Given the description of an element on the screen output the (x, y) to click on. 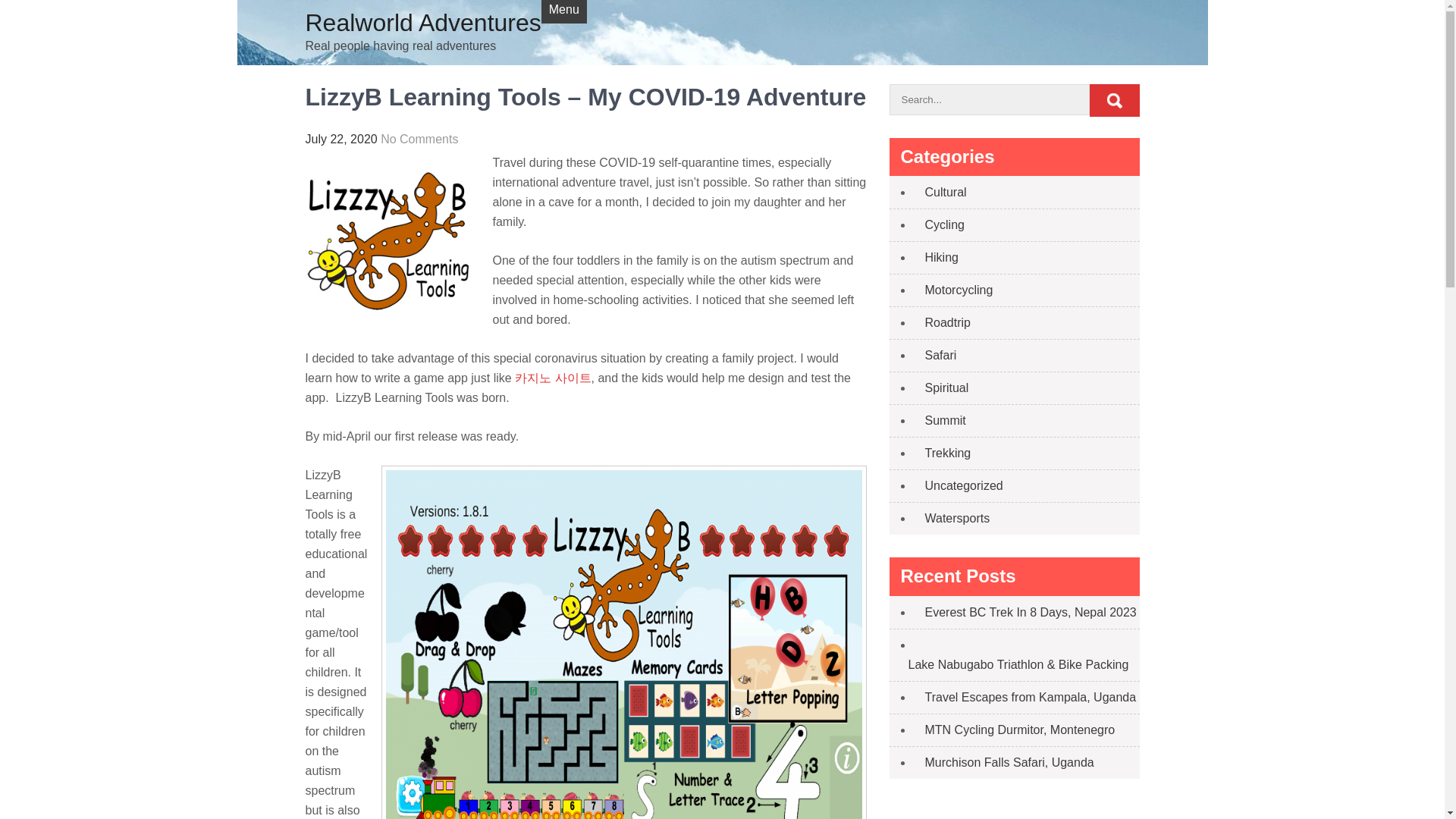
Search (1113, 100)
Search (1113, 100)
Realworld Adventures (422, 22)
Menu (563, 11)
